Given the description of an element on the screen output the (x, y) to click on. 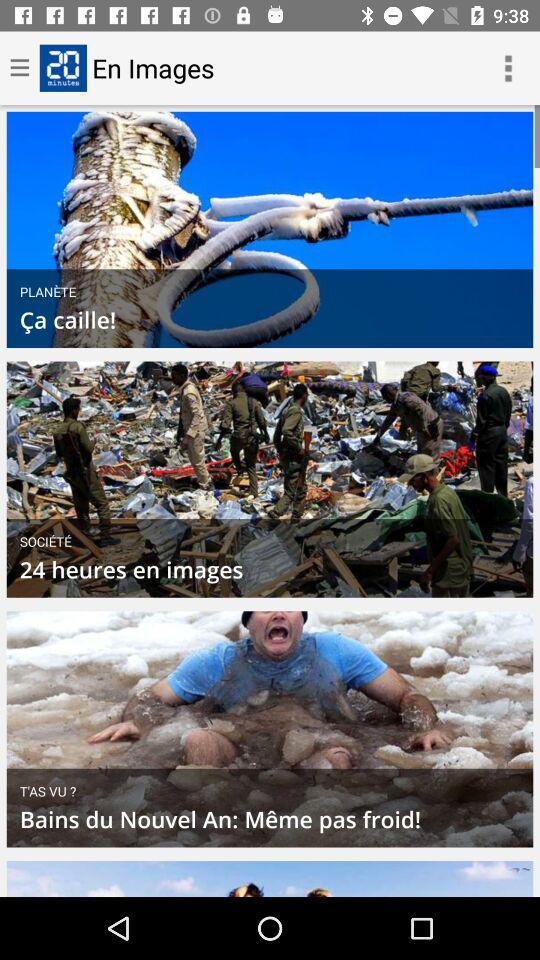
press icon at the top right corner (508, 67)
